Given the description of an element on the screen output the (x, y) to click on. 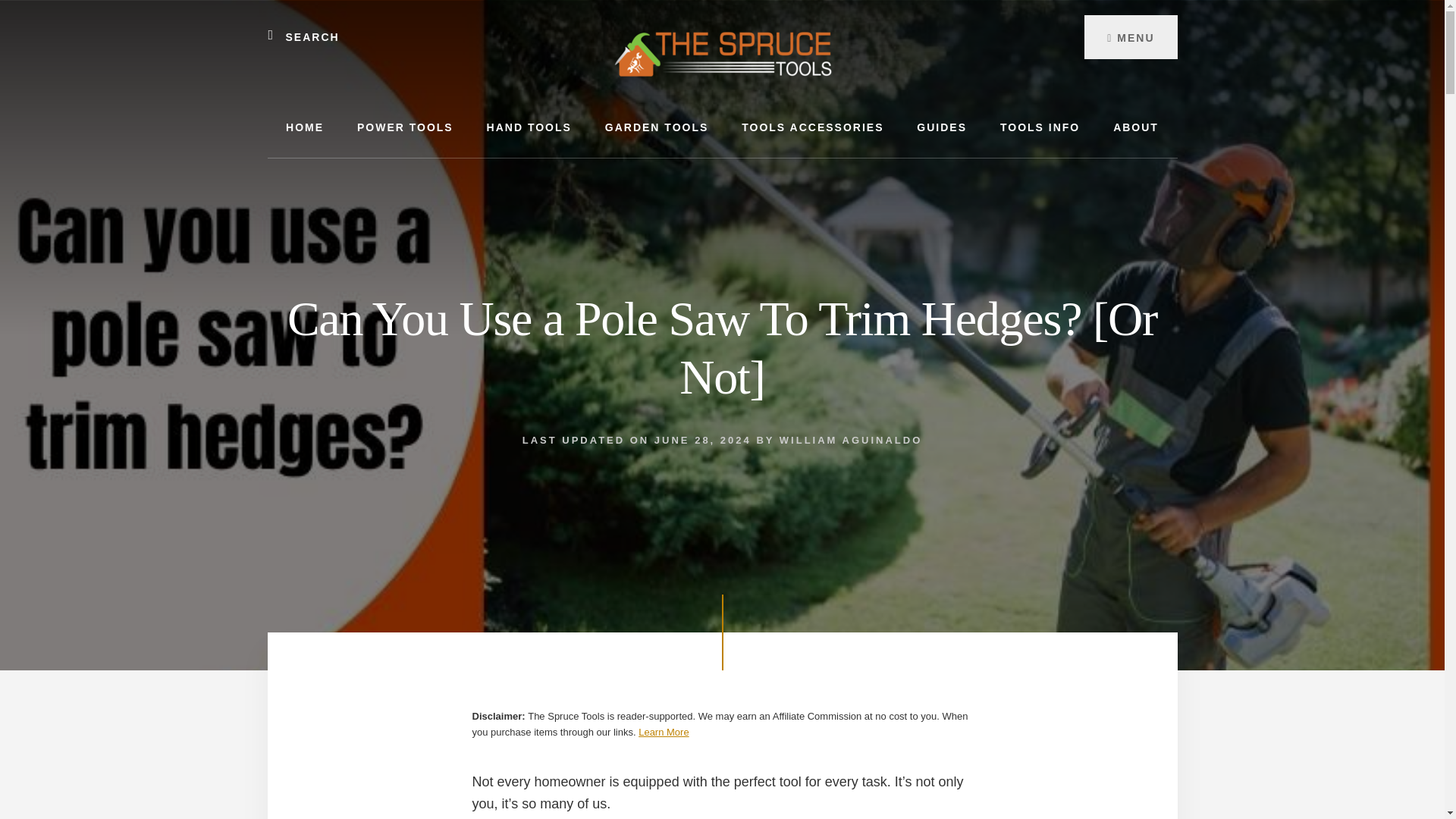
POWER TOOLS (405, 127)
HOME (304, 127)
HAND TOOLS (528, 127)
MENU (1130, 36)
